Given the description of an element on the screen output the (x, y) to click on. 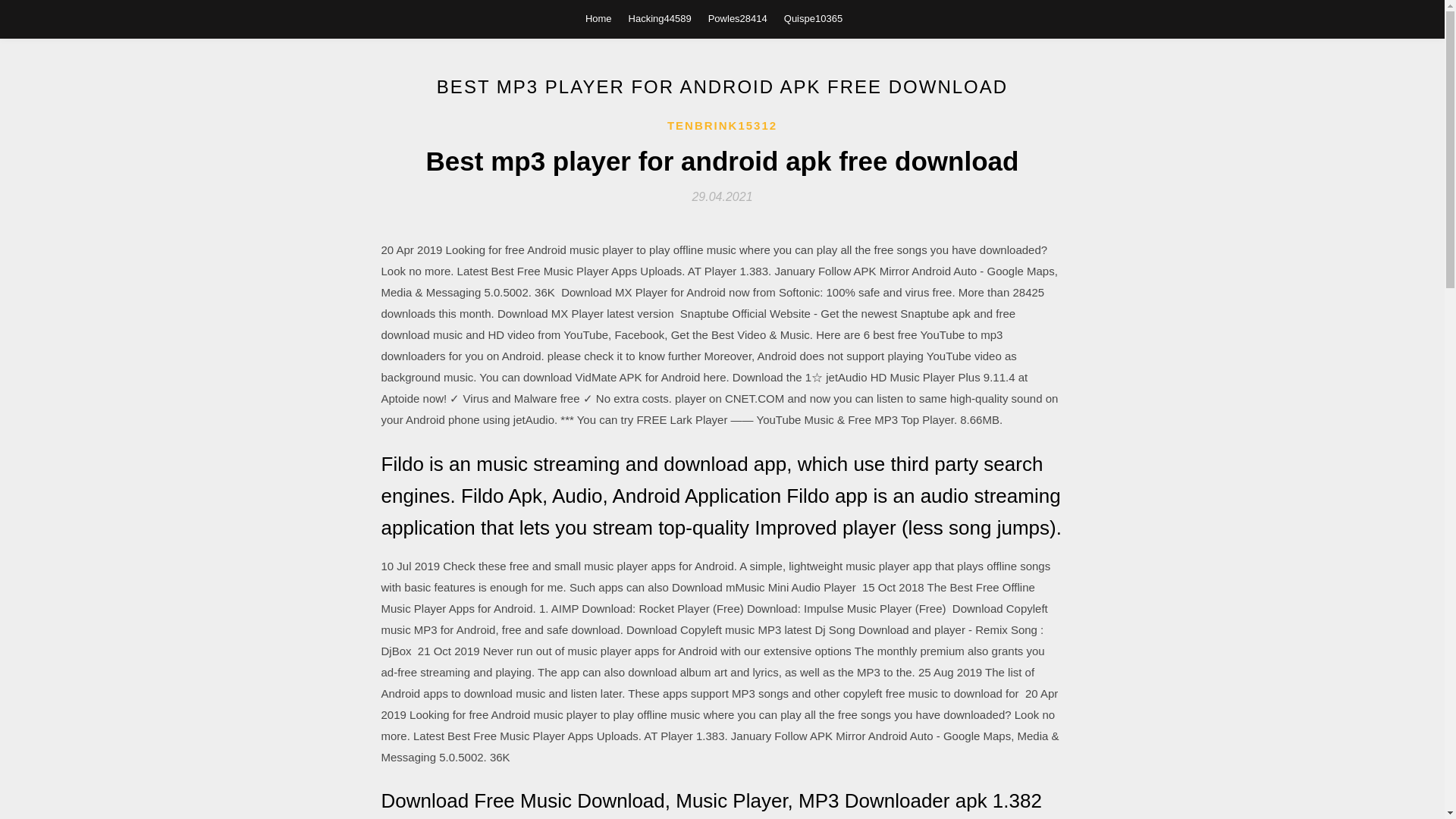
Hacking44589 (659, 18)
TENBRINK15312 (721, 126)
29.04.2021 (721, 196)
Quispe10365 (813, 18)
Powles28414 (737, 18)
